Given the description of an element on the screen output the (x, y) to click on. 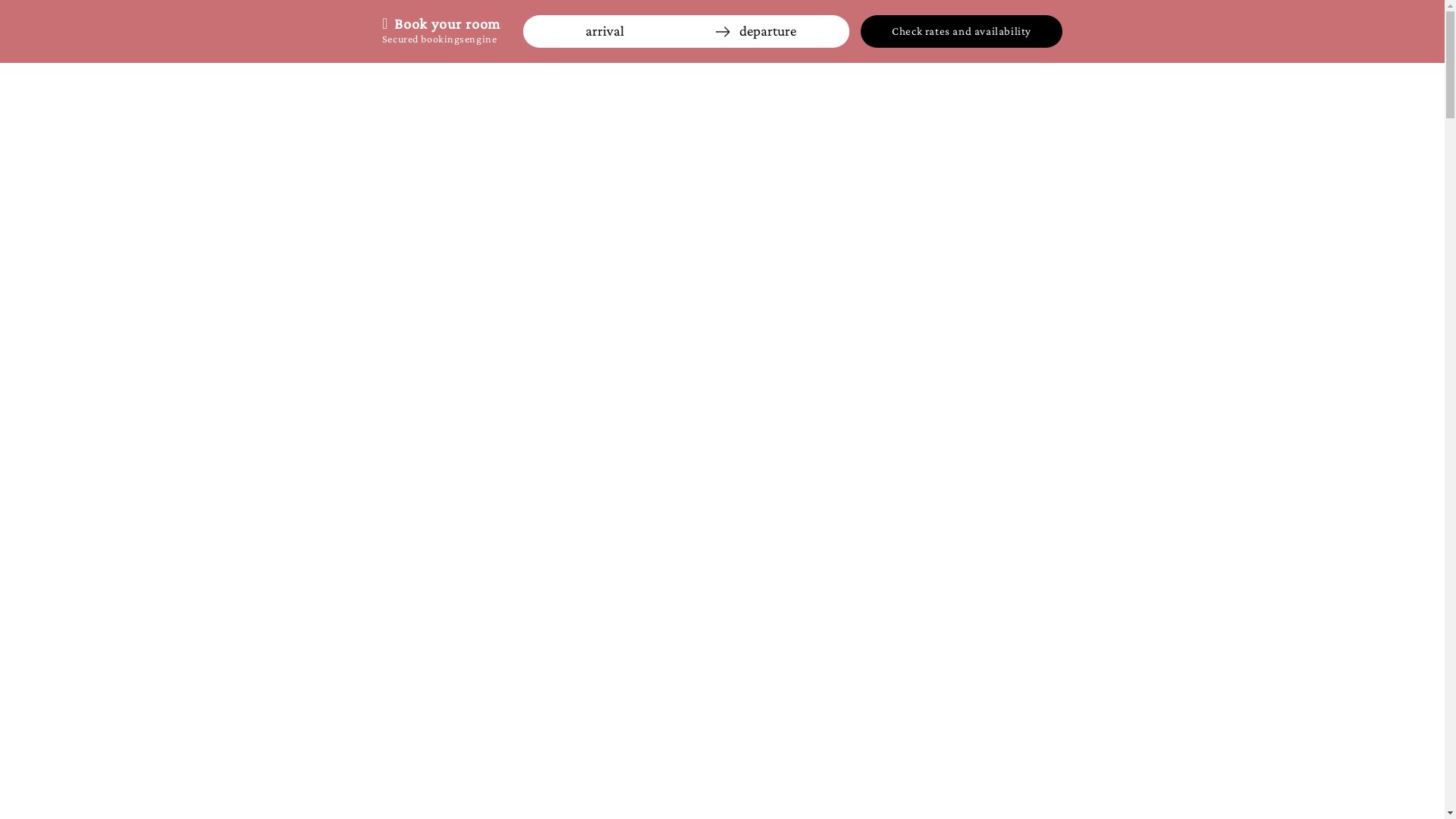
RESTAURANT Element type: text (391, 785)
CONTACT Element type: text (1080, 785)
NL Element type: text (1419, 85)
REVIEWS Element type: text (1008, 785)
FR Element type: text (1382, 85)
HOME Element type: text (320, 785)
PACKAGES Element type: text (709, 785)
PHOTOS Element type: text (779, 785)
EN Element type: text (1344, 85)
BAR Element type: text (839, 785)
ROOMS Element type: text (466, 785)
SERVICES Element type: text (533, 785)
Check rates and availability Element type: text (961, 31)
